Given the description of an element on the screen output the (x, y) to click on. 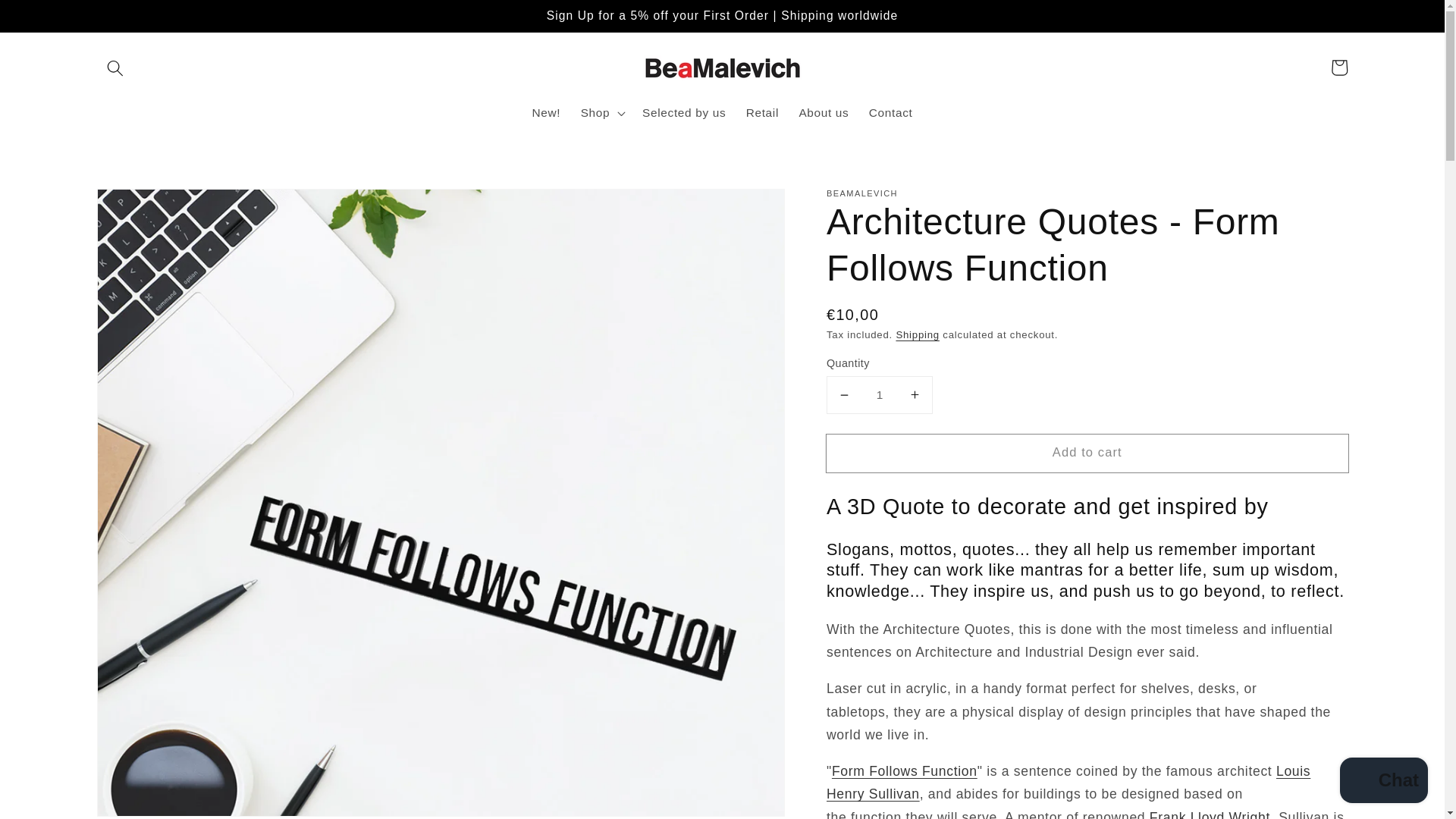
Shopify online store chat (1383, 781)
Skip to content (49, 18)
New! (545, 112)
1 (879, 394)
